Given the description of an element on the screen output the (x, y) to click on. 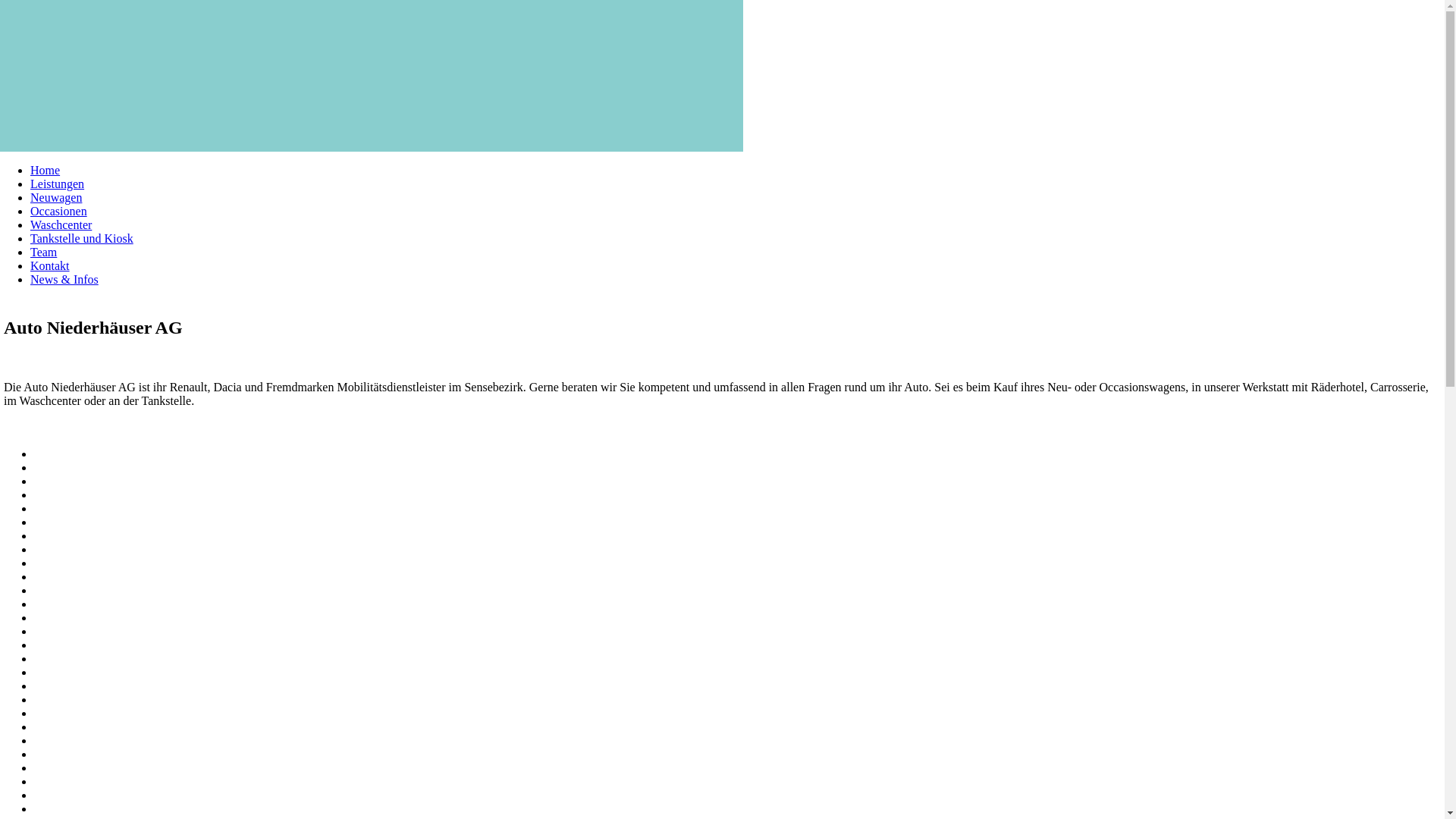
Tankstelle und Kiosk Element type: text (81, 238)
Home Element type: text (44, 169)
News & Infos Element type: text (64, 279)
Kontakt Element type: text (49, 265)
Occasionen Element type: text (58, 210)
Leistungen Element type: text (57, 183)
Neuwagen Element type: text (55, 197)
Waschcenter Element type: text (60, 224)
Team Element type: text (43, 251)
